Given the description of an element on the screen output the (x, y) to click on. 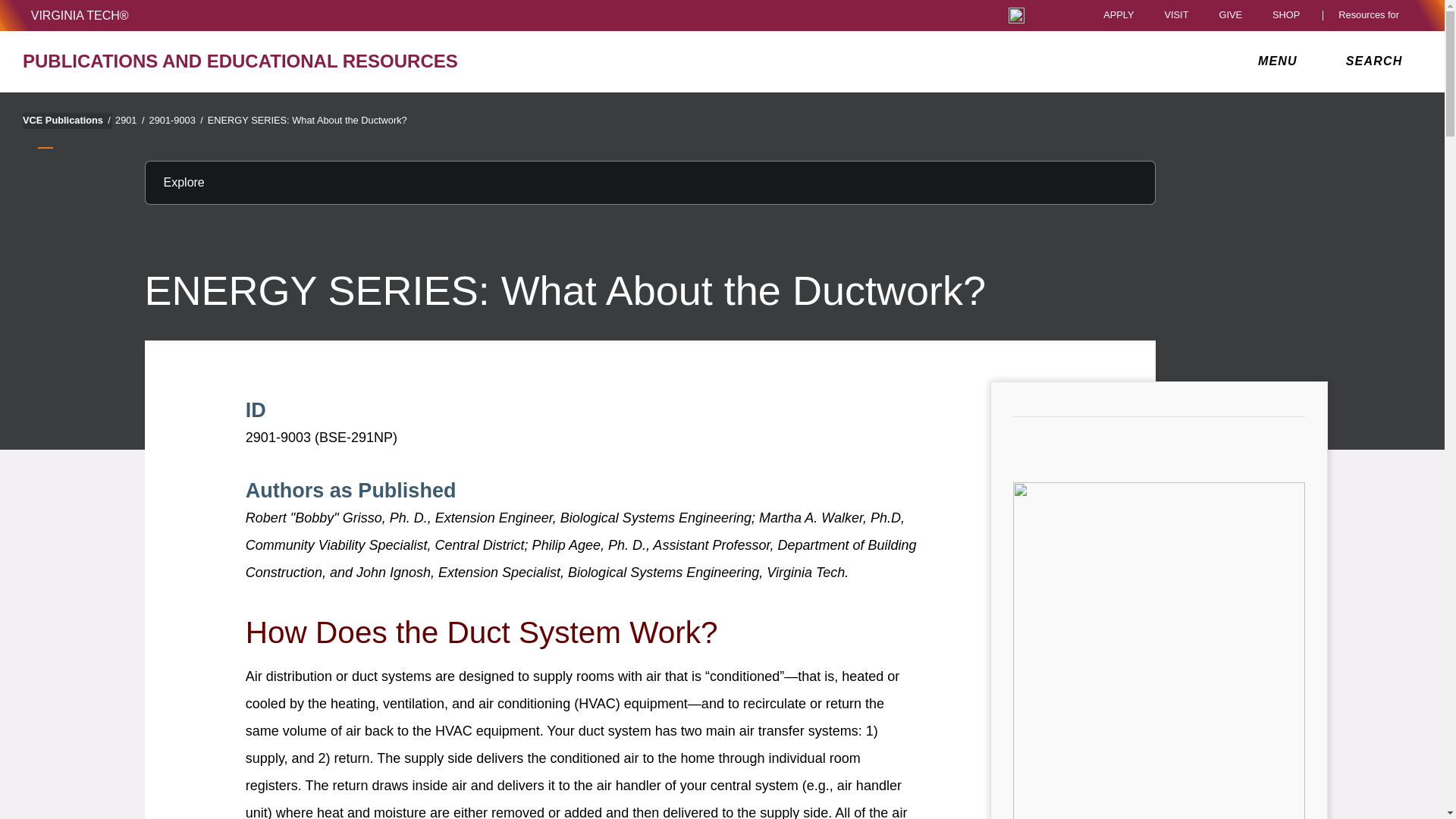
Resources for (1372, 15)
APPLY (1118, 15)
VISIT (1175, 15)
PUBLICATIONS AND EDUCATIONAL RESOURCES (250, 60)
MENU (1280, 61)
GIVE (1229, 15)
Universal Access Toggle (1017, 15)
SHOP (1289, 15)
